Given the description of an element on the screen output the (x, y) to click on. 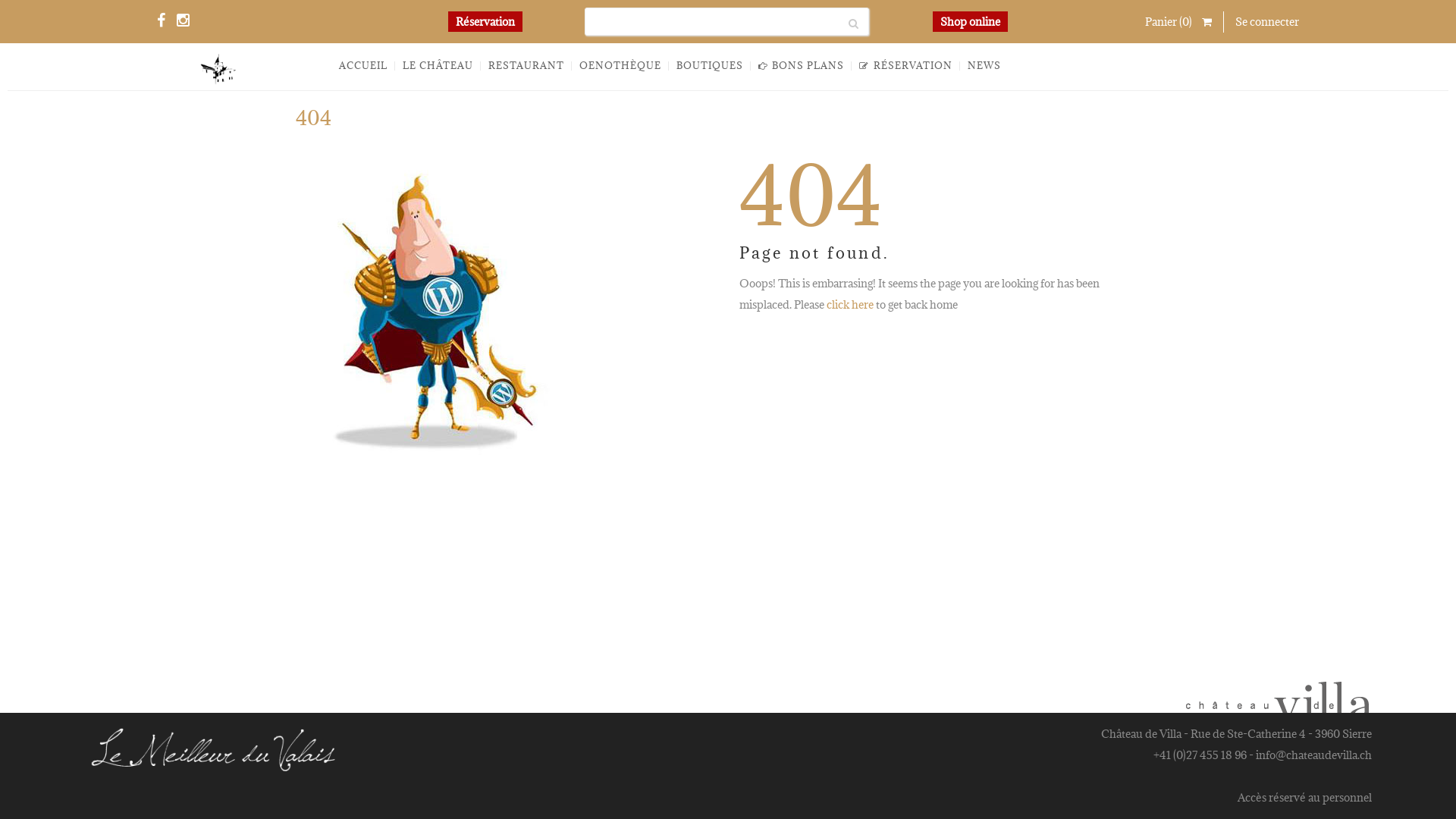
You are here: Home Element type: text (1064, 122)
RESTAURANT Element type: text (525, 65)
NEWS Element type: text (984, 65)
BOUTIQUES Element type: text (709, 65)
Shop online Element type: text (969, 20)
info@chateaudevilla.ch Element type: text (1313, 754)
ACCUEIL Element type: text (363, 65)
Rechercher Element type: text (854, 21)
+41 (0)27 455 18 96 Element type: text (1199, 754)
BONS PLANS Element type: text (801, 65)
Se connecter Element type: text (1267, 21)
Panier (0) Element type: text (1178, 21)
click here Element type: text (849, 304)
